Given the description of an element on the screen output the (x, y) to click on. 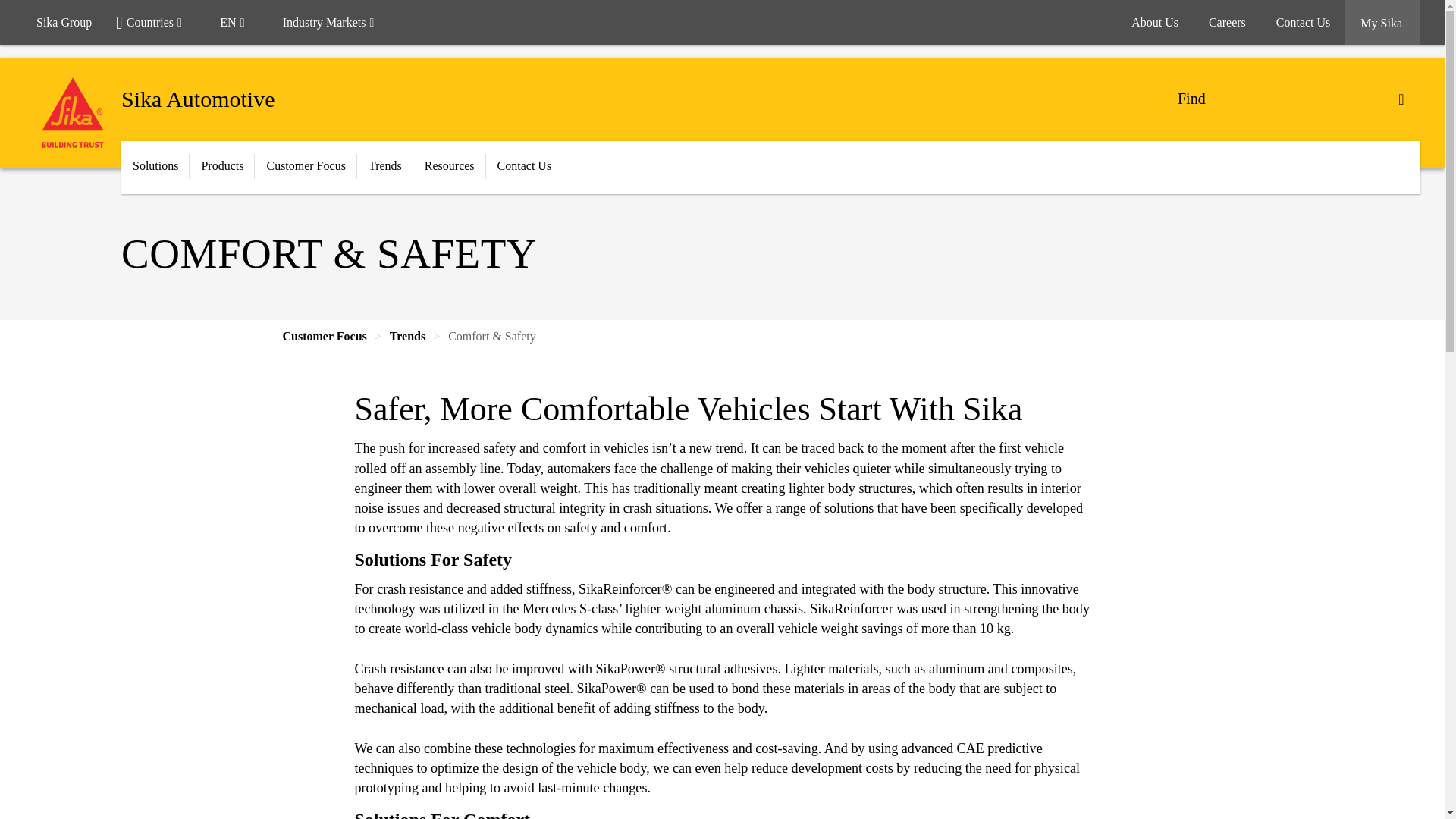
Careers (1226, 22)
Countries (155, 22)
Industry Markets (335, 22)
Sika Logo (72, 112)
EN (238, 22)
Contact Us (1302, 22)
My Sika  (1383, 22)
About Us (1154, 22)
Sika Group (63, 22)
